Given the description of an element on the screen output the (x, y) to click on. 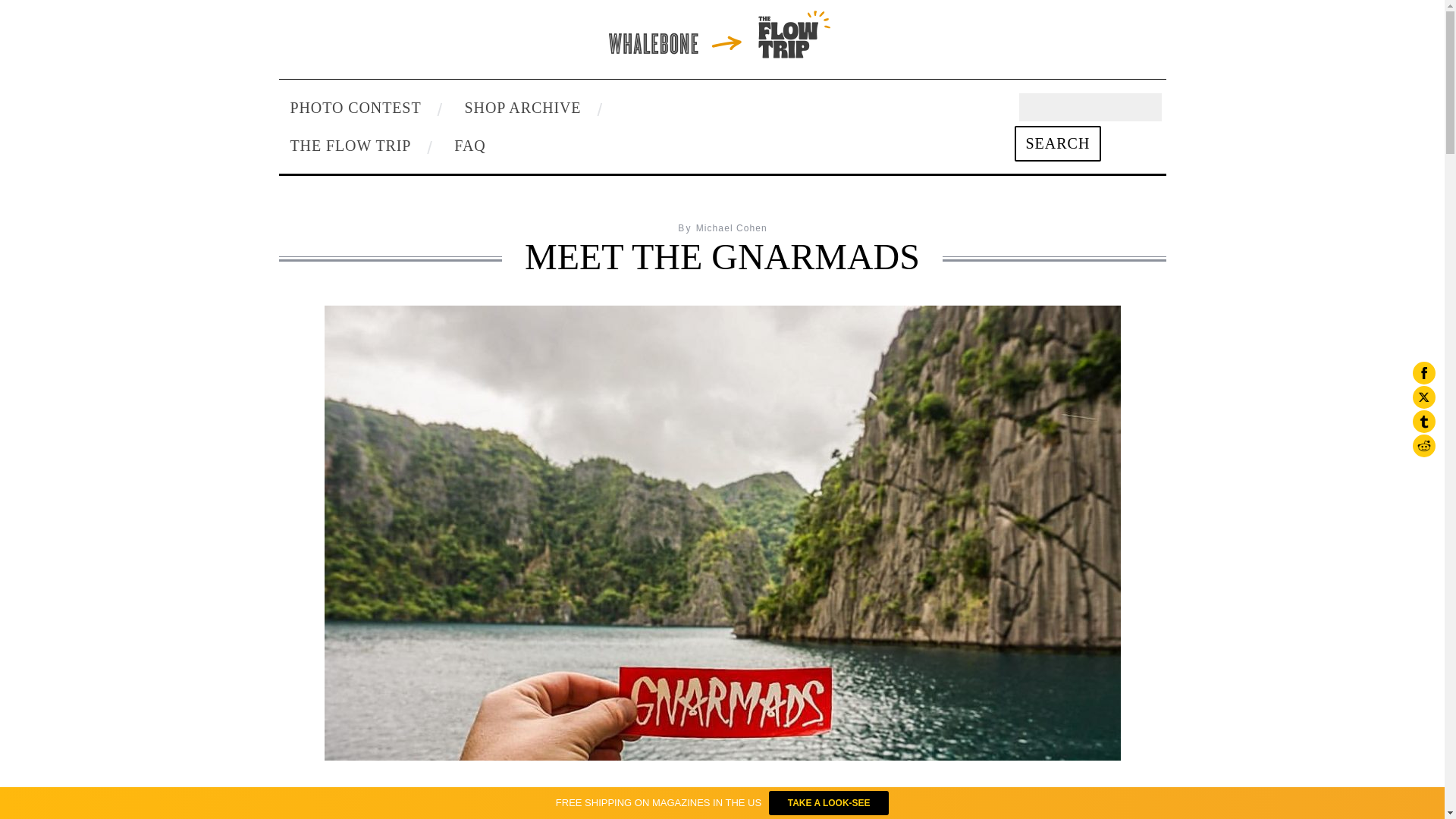
TAKE A LOOK-SEE (828, 802)
Tumblr (1423, 421)
Search (1058, 143)
Facebook (1423, 372)
Reddit (1423, 445)
X (1423, 396)
Search (1058, 143)
